Given the description of an element on the screen output the (x, y) to click on. 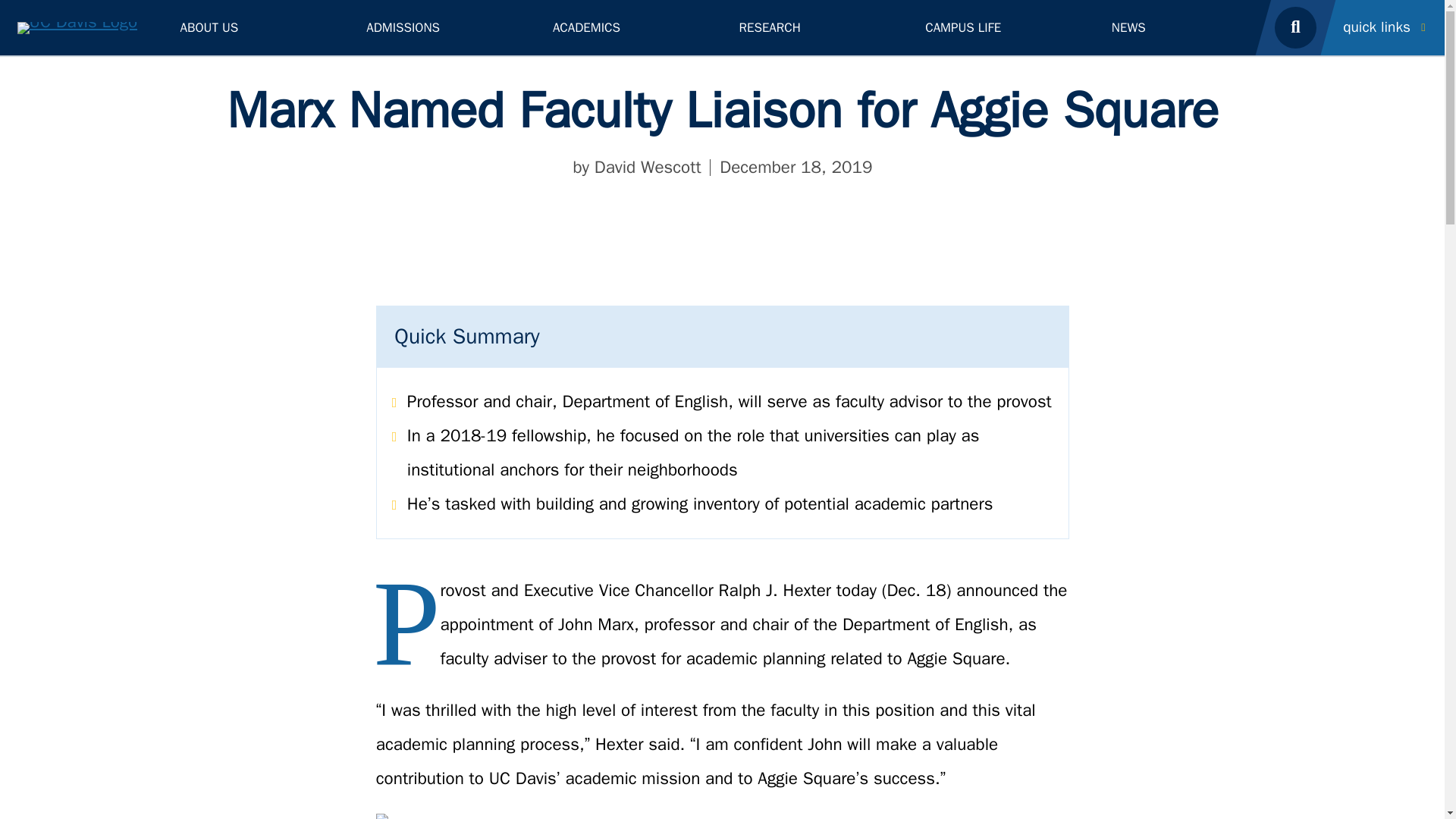
Wednesday, December 18, 2019 - 2:37pm (795, 167)
ABOUT US (255, 27)
